Given the description of an element on the screen output the (x, y) to click on. 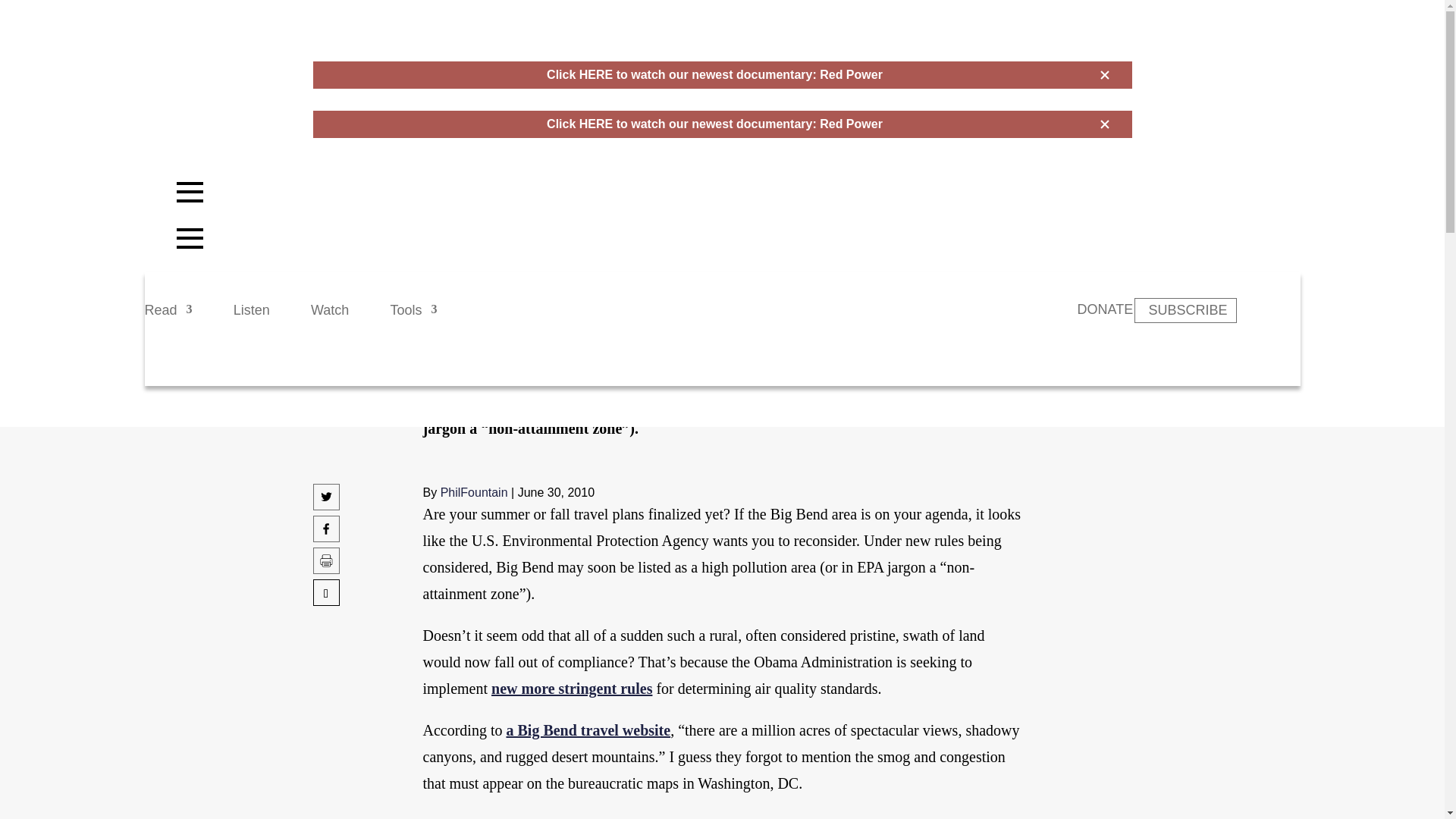
Tools (413, 316)
Read (168, 316)
Share this on Twitter (326, 504)
Click HERE to watch our newest documentary: Red Power (714, 74)
Listen (250, 316)
Click HERE to watch our newest documentary: Red Power (714, 123)
PhilFountain (474, 492)
STATE (442, 210)
Posts by PhilFountain (474, 492)
DONATE (1104, 309)
